Given the description of an element on the screen output the (x, y) to click on. 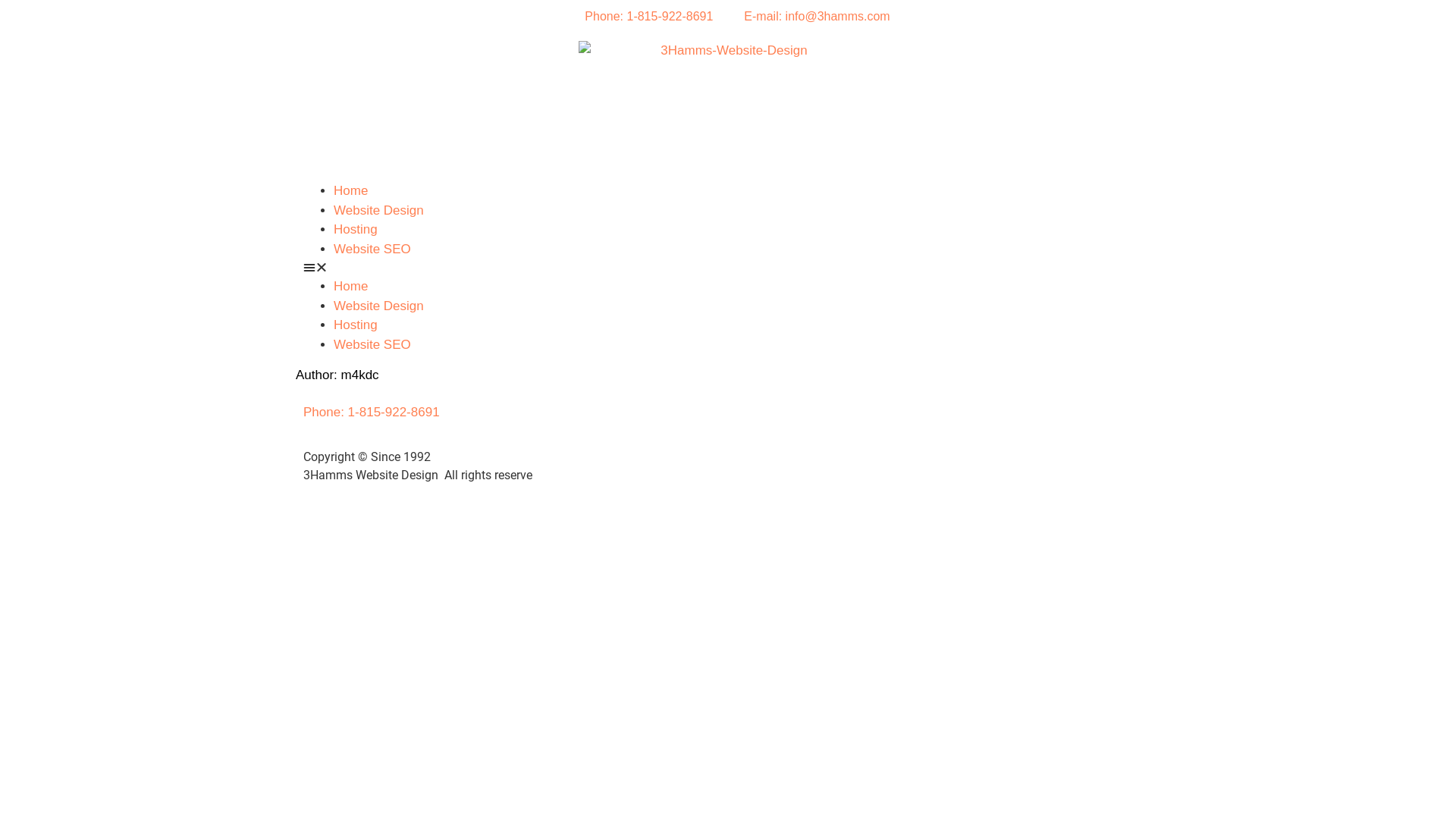
Hosting Element type: text (355, 229)
Phone: 1-815-922-8691 Element type: text (371, 411)
Home Element type: text (350, 190)
E-mail: info@3hamms.com Element type: text (806, 16)
Website Design Element type: text (378, 305)
Hosting Element type: text (355, 324)
Website SEO Element type: text (372, 248)
Website SEO Element type: text (372, 343)
Website Design Element type: text (378, 210)
Home Element type: text (350, 286)
Phone: 1-815-922-8691 Element type: text (638, 16)
